Given the description of an element on the screen output the (x, y) to click on. 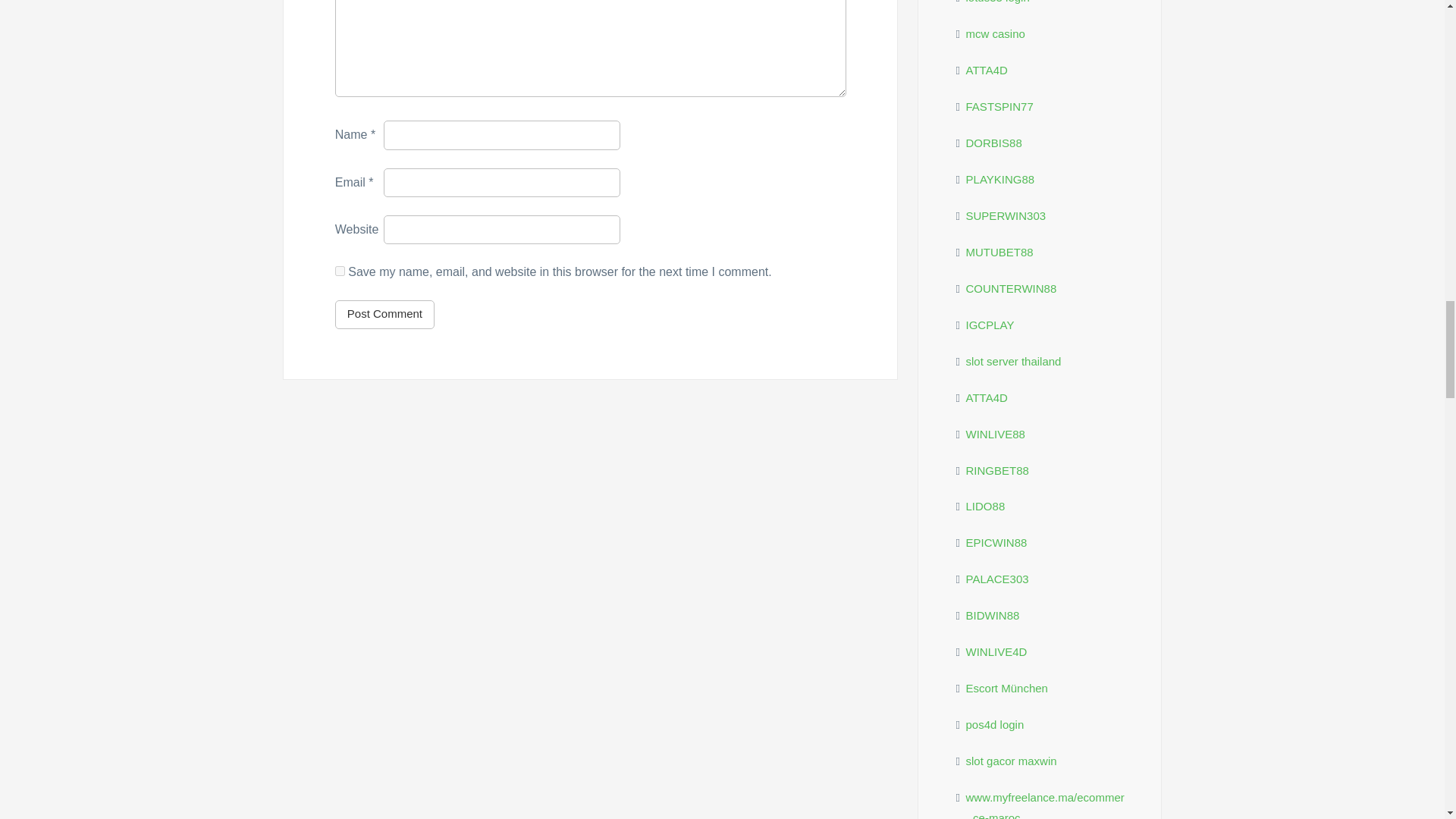
Post Comment (383, 314)
Post Comment (383, 314)
yes (339, 271)
